Given the description of an element on the screen output the (x, y) to click on. 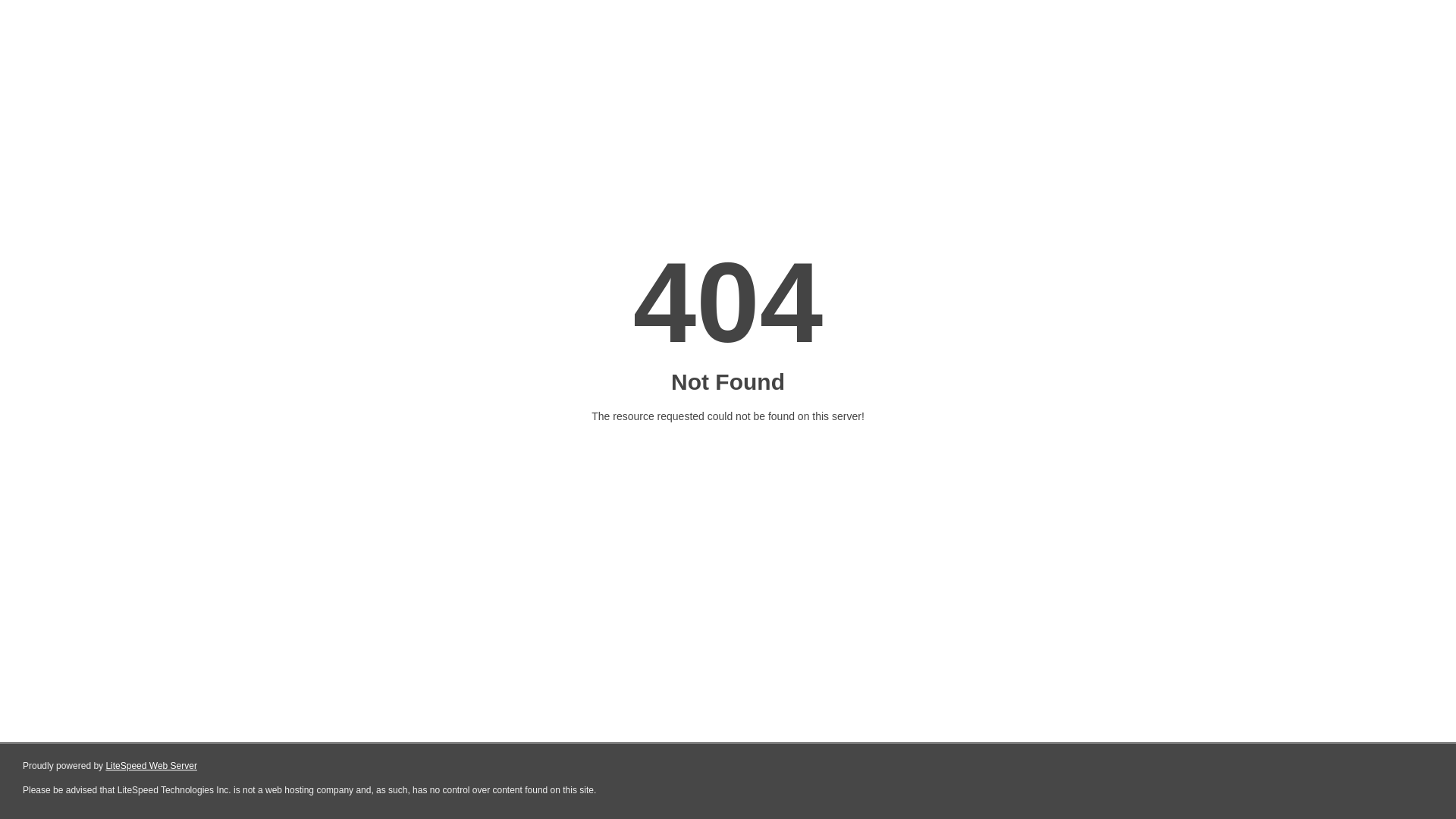
LiteSpeed Web Server (150, 765)
